Given the description of an element on the screen output the (x, y) to click on. 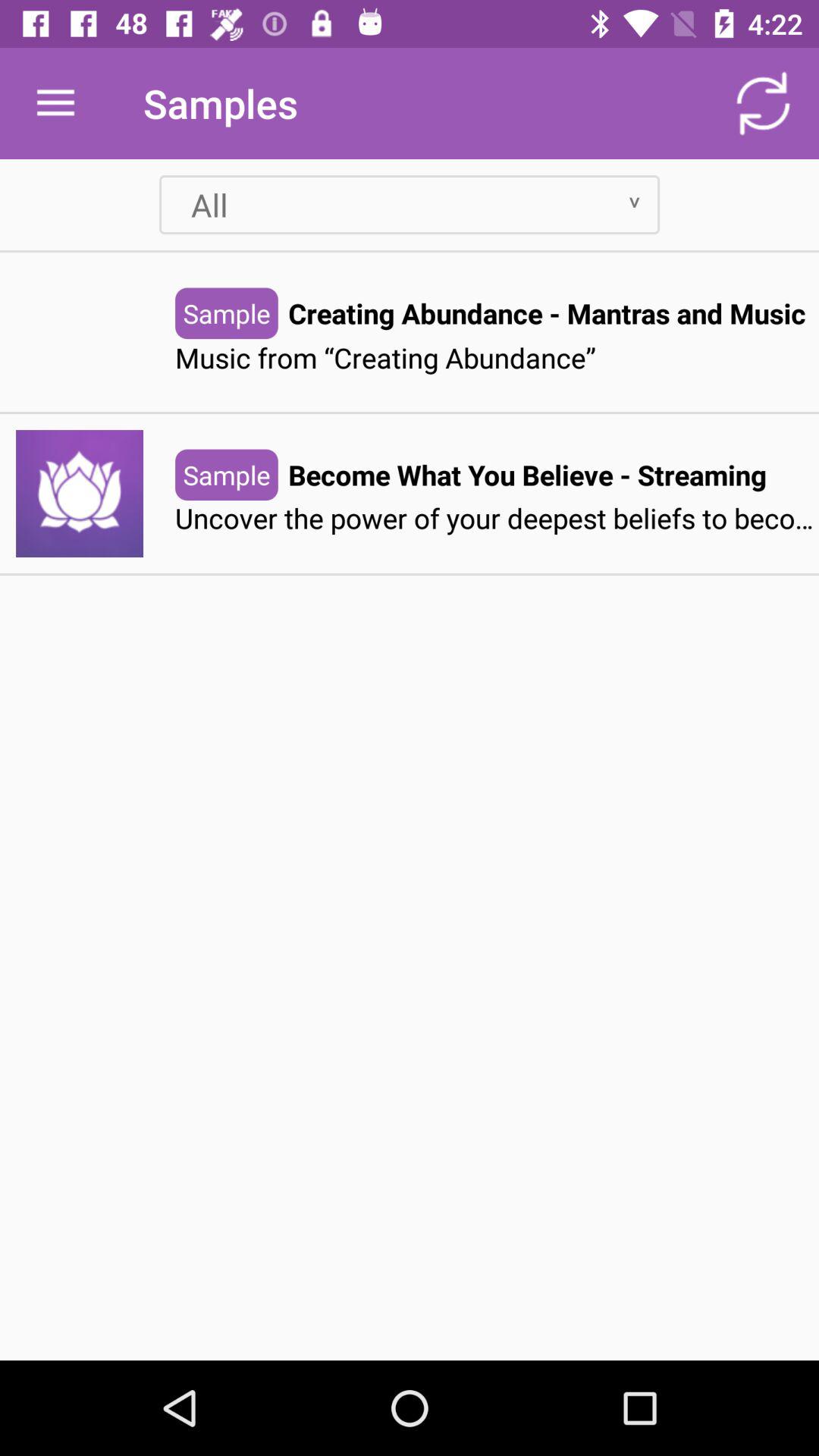
swipe until uncover the power item (497, 519)
